Given the description of an element on the screen output the (x, y) to click on. 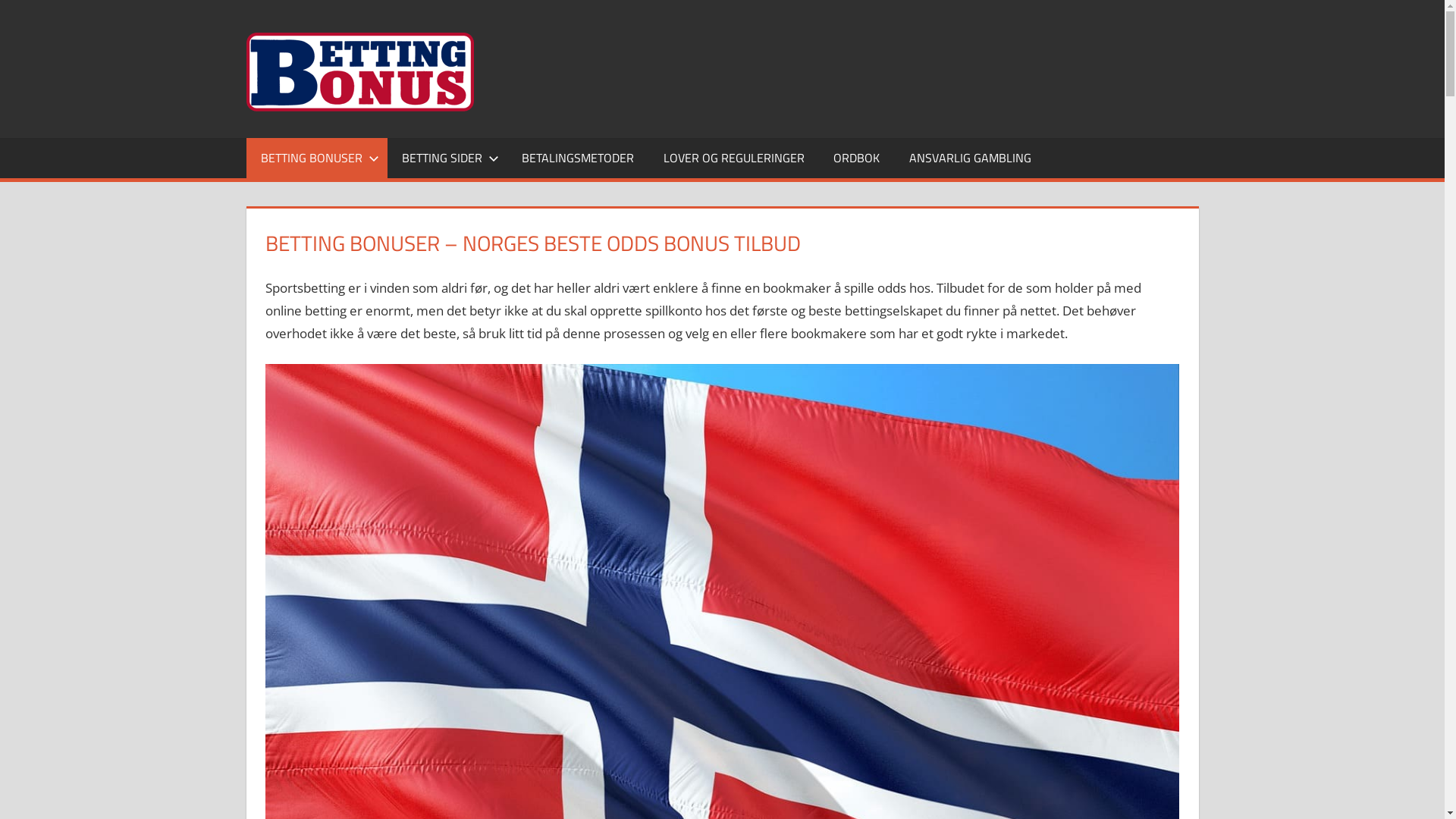
BETALINGSMETODER Element type: text (577, 158)
LOVER OG REGULERINGER Element type: text (734, 158)
ANSVARLIG GAMBLING Element type: text (969, 158)
BETTING BONUSER Element type: text (315, 158)
BETTING SIDER Element type: text (447, 158)
ORDBOK Element type: text (856, 158)
